Given the description of an element on the screen output the (x, y) to click on. 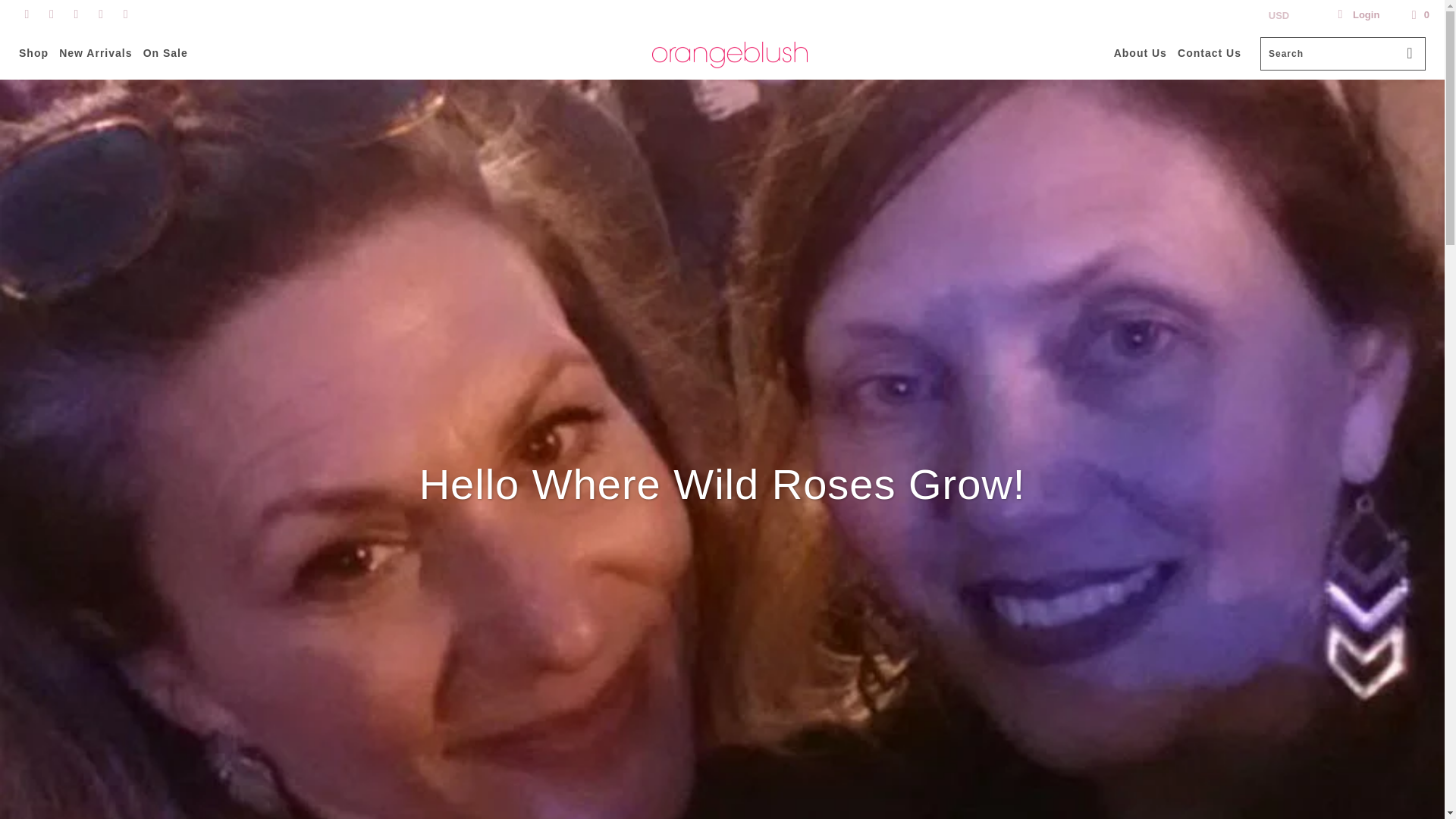
New Arrivals (95, 53)
Login (1357, 15)
My Account  (1357, 15)
Email Orange Blush (124, 14)
About Us (1140, 53)
Contact Us (1209, 53)
Orange Blush on Facebook (50, 14)
Orange Blush on Pinterest (74, 14)
Orange Blush on Twitter (25, 14)
Orange Blush (729, 54)
